Given the description of an element on the screen output the (x, y) to click on. 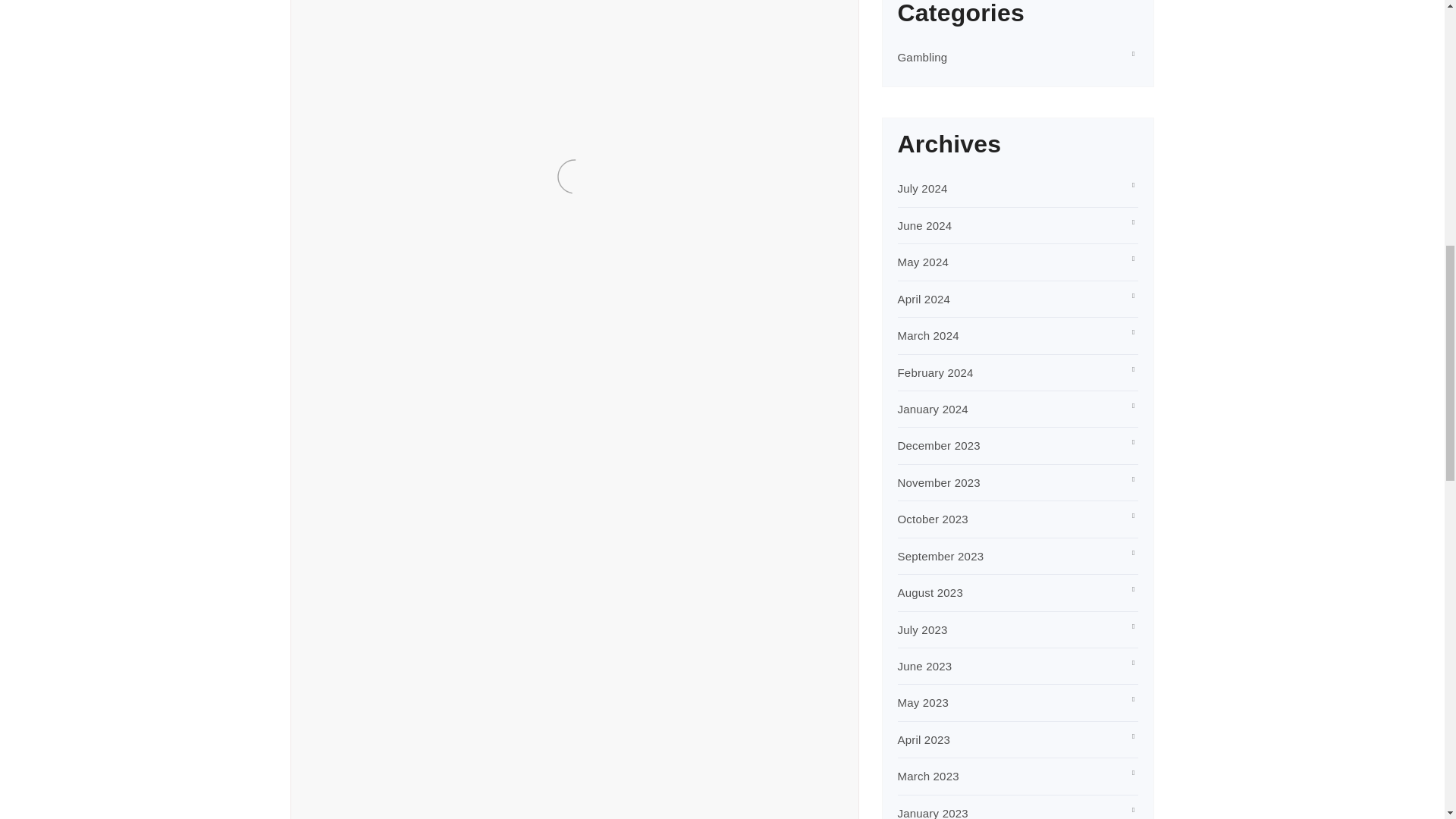
September 2023 (941, 555)
May 2023 (923, 702)
February 2024 (936, 372)
August 2023 (930, 592)
Gambling (922, 56)
January 2024 (933, 408)
April 2024 (924, 298)
May 2024 (923, 261)
November 2023 (938, 481)
June 2023 (925, 666)
June 2024 (925, 225)
March 2024 (928, 335)
July 2023 (922, 629)
July 2024 (922, 187)
December 2023 (938, 445)
